Given the description of an element on the screen output the (x, y) to click on. 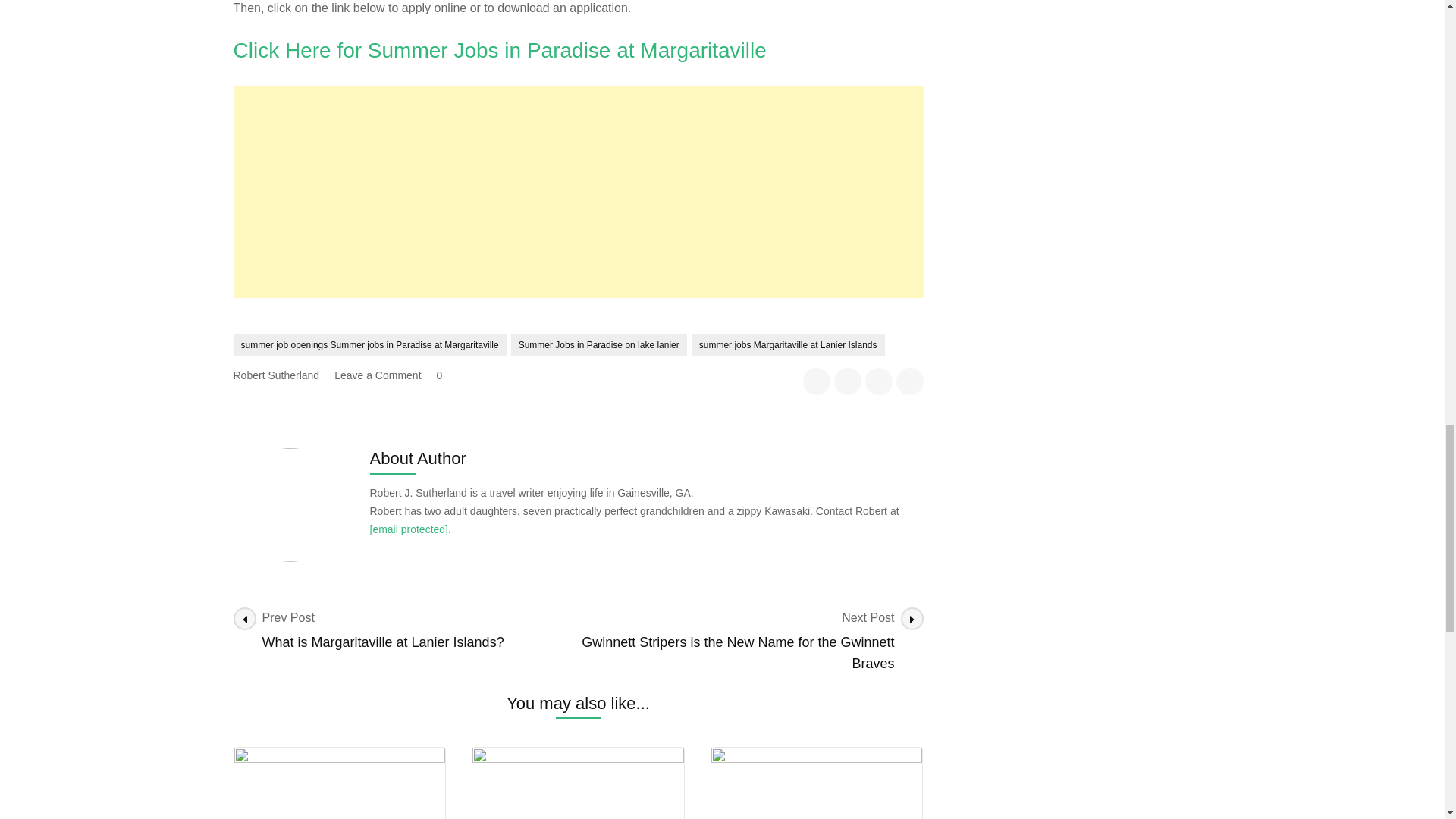
Summer Jobs in Paradise on lake lanier (599, 344)
Robert Sutherland (276, 375)
summer jobs Margaritaville at Lanier Islands (788, 344)
Click Here for Summer Jobs in Paradise at Margaritaville (499, 50)
